Given the description of an element on the screen output the (x, y) to click on. 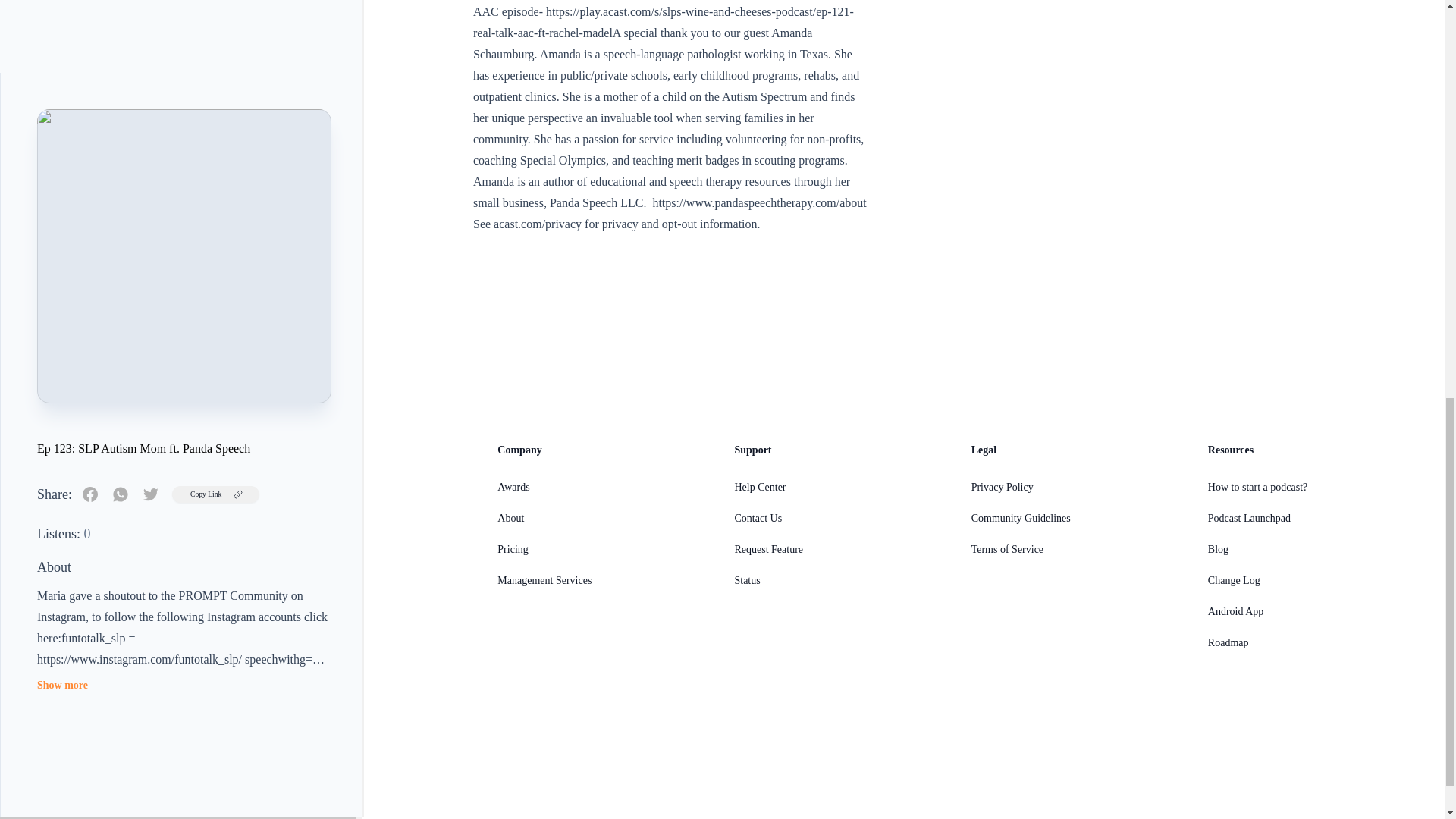
Privacy Policy (1002, 487)
Awards (513, 487)
How to start a podcast? (1257, 487)
Community Guidelines (1020, 518)
Android App (1235, 611)
Request Feature (768, 549)
Management Services (544, 580)
Contact Us (757, 518)
Start my podcast (73, 560)
About (510, 518)
